Given the description of an element on the screen output the (x, y) to click on. 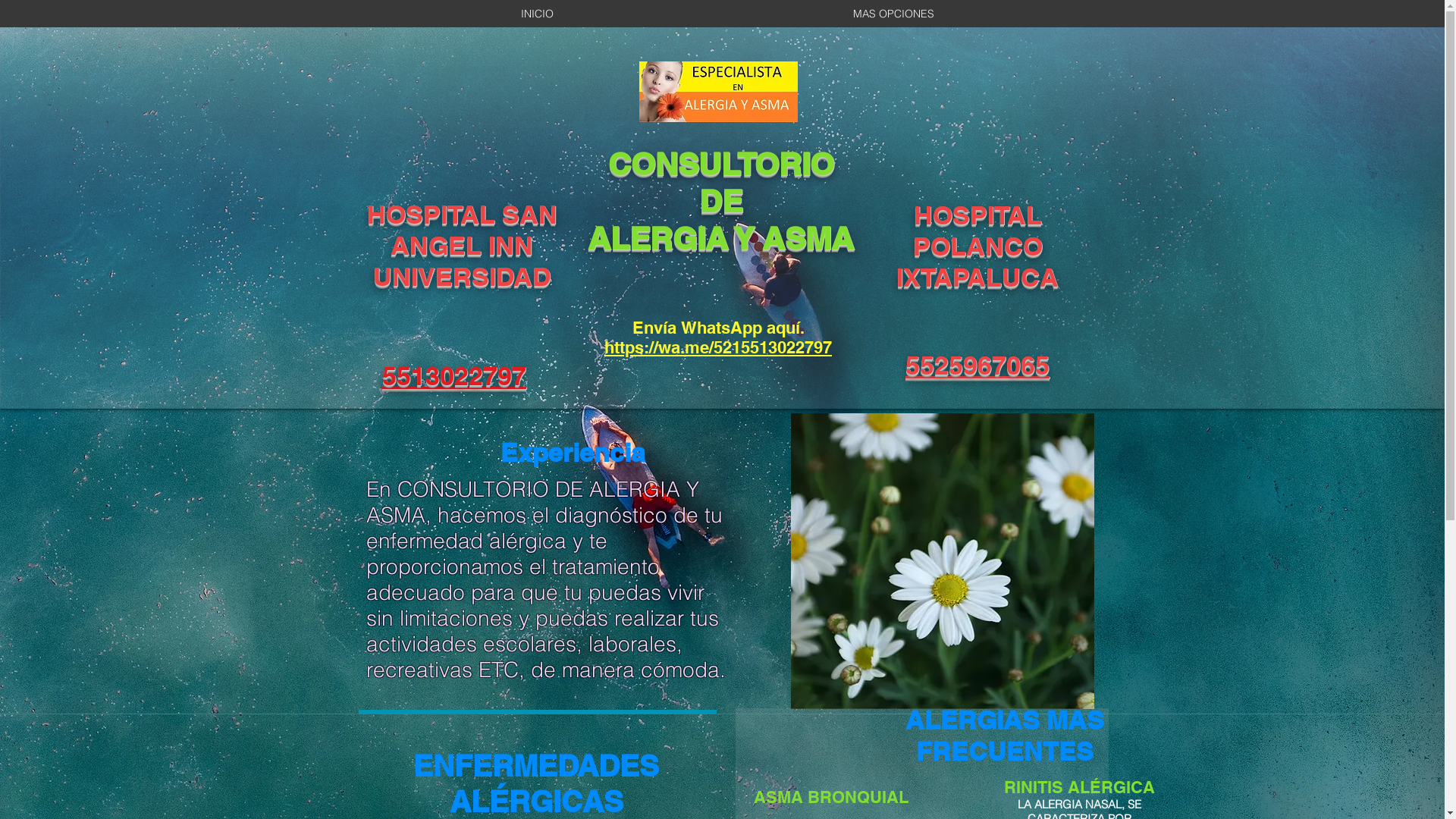
8977117.jpg Element type: hover (717, 91)
Visitor Analytics Element type: hover (966, 169)
5525967065 Element type: text (977, 364)
https://wa.me/5215513022797 Element type: text (717, 347)
Bicicleta de Lady Element type: hover (941, 561)
5513022797 Element type: text (454, 375)
INICIO Element type: text (536, 13)
